Given the description of an element on the screen output the (x, y) to click on. 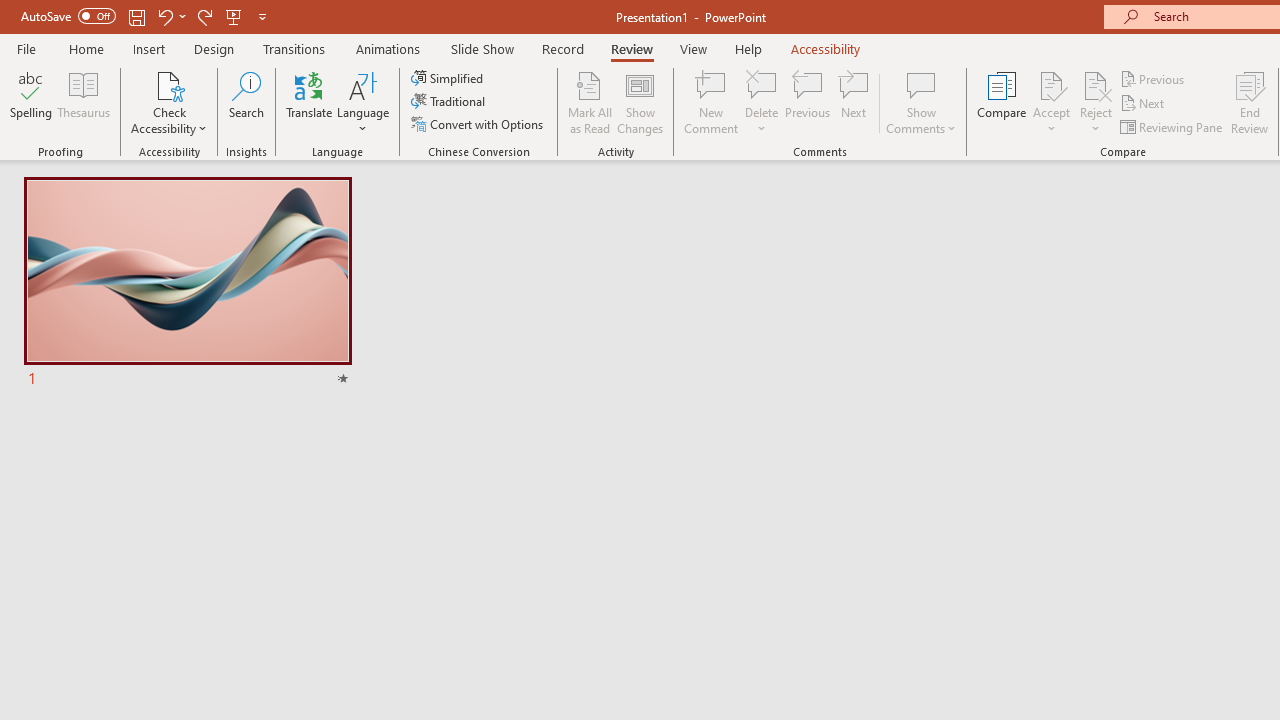
Show Comments (921, 84)
Traditional (449, 101)
Compare (1002, 102)
Show Changes (639, 102)
Reject (1096, 102)
Thesaurus... (83, 102)
Convert with Options... (479, 124)
Accept (1051, 102)
Reviewing Pane (1172, 126)
Show Comments (921, 102)
